Given the description of an element on the screen output the (x, y) to click on. 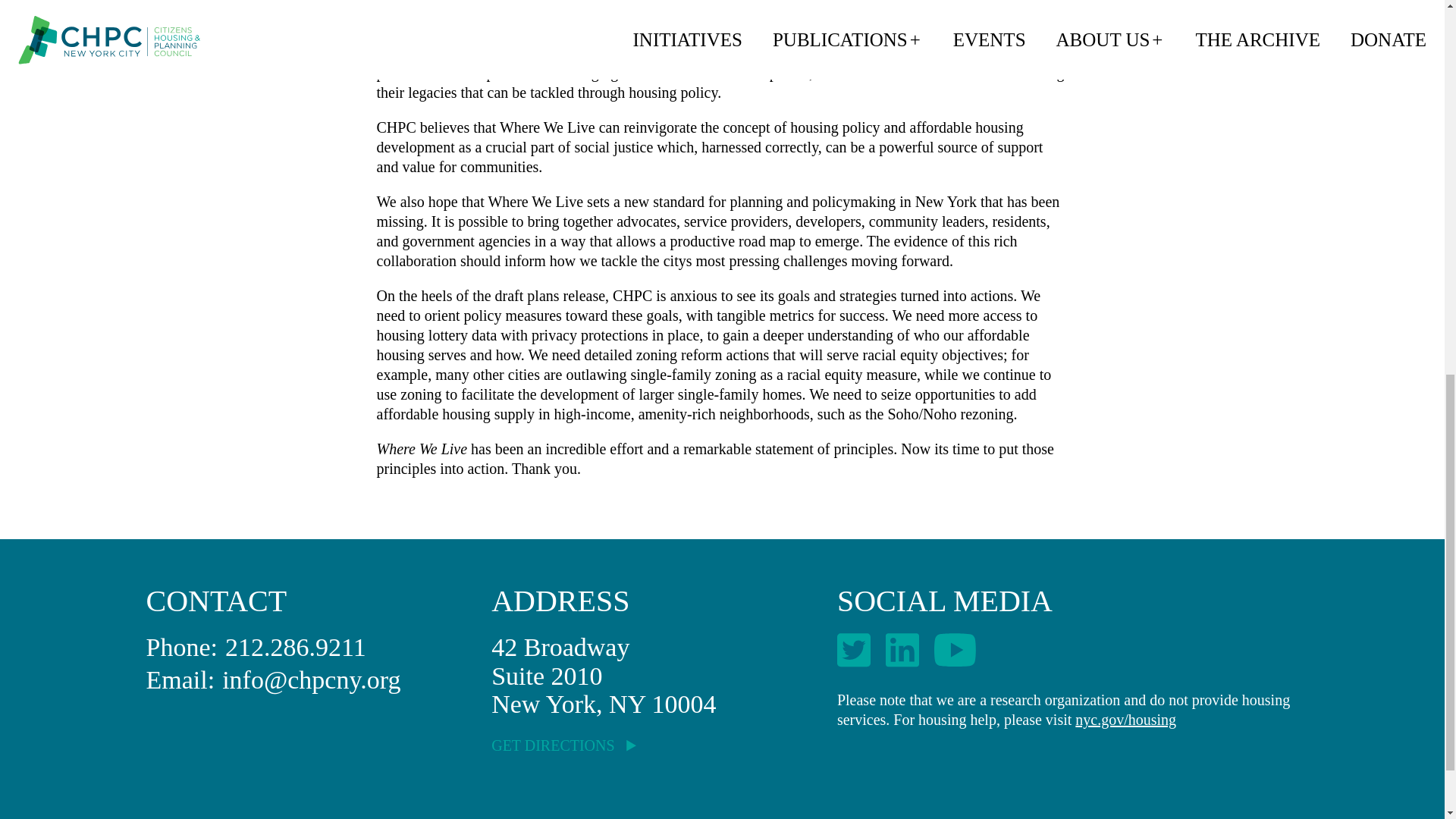
GET DIRECTIONS (563, 745)
212.286.9211 (295, 646)
